Given the description of an element on the screen output the (x, y) to click on. 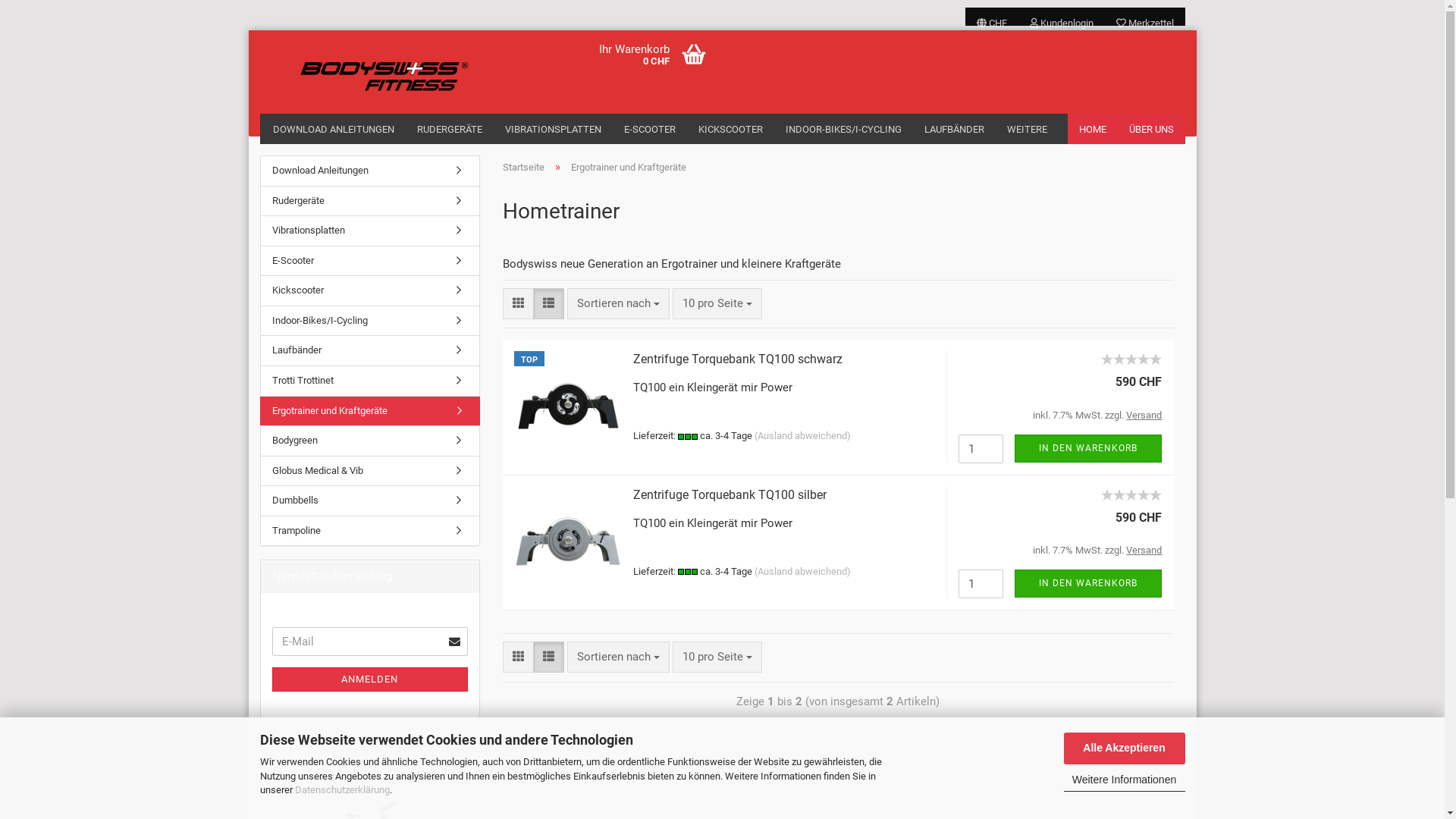
Zentrifuge Torquebank TQ100 silber Element type: text (729, 494)
Zentrifuge Torquebank TQ100 schwarz Element type: hover (1131, 366)
BODYSWISS - SWISSPLATE Element type: hover (366, 60)
Angebote Element type: hover (461, 768)
KICKSCOOTER Element type: text (730, 128)
E-Scooter Element type: text (369, 261)
Sortieren nach Element type: text (618, 656)
(Ausland abweichend) Element type: text (802, 435)
Weitere Informationen Element type: text (1123, 780)
CHF Element type: text (990, 16)
Trotti Trottinet Element type: text (369, 380)
DOWNLOAD ANLEITUNGEN Element type: text (332, 128)
Sortieren nach Element type: text (618, 303)
VIBRATIONSPLATTEN Element type: text (551, 128)
ca. 3-4 Tage Element type: hover (687, 436)
(Ausland abweichend) Element type: text (802, 571)
Alle Akzeptieren Element type: text (1123, 748)
Bisher wurden keine Rezensionen zu diesem Produkt abgegeben Element type: hover (1131, 492)
Zentrifuge Torquebank TQ100 schwarz Element type: text (737, 358)
 Kundenlogin Element type: text (1060, 16)
Download Anleitungen Element type: text (369, 170)
Kickscooter Element type: text (369, 290)
WEITERE Element type: text (1025, 128)
Startseite Element type: text (522, 166)
Anmelden Element type: text (978, 188)
INDOOR-BIKES/I-CYCLING Element type: text (842, 128)
ANMELDEN Element type: text (369, 679)
ca. 3-4 Tage Element type: hover (687, 571)
Speichern Element type: text (908, 128)
Versand Element type: text (1143, 414)
10 pro Seite Element type: text (716, 656)
Globus Medical & Vib Element type: text (369, 471)
IN DEN WARENKORB Element type: text (1087, 448)
E-SCOOTER Element type: text (649, 128)
 Merkzettel Element type: text (1144, 16)
Zentrifuge Torquebank TQ100 silber Element type: hover (1131, 502)
Bodygreen Element type: text (369, 440)
HOME Element type: text (1092, 128)
Vibrationsplatten Element type: text (369, 230)
Versand Element type: text (1143, 549)
10 pro Seite Element type: text (716, 303)
IN DEN WARENKORB Element type: text (1087, 583)
Bisher wurden keine Rezensionen zu diesem Produkt abgegeben Element type: hover (1131, 357)
Trampoline Element type: text (369, 531)
Dumbbells Element type: text (369, 500)
Indoor-Bikes/I-Cycling Element type: text (369, 320)
